Given the description of an element on the screen output the (x, y) to click on. 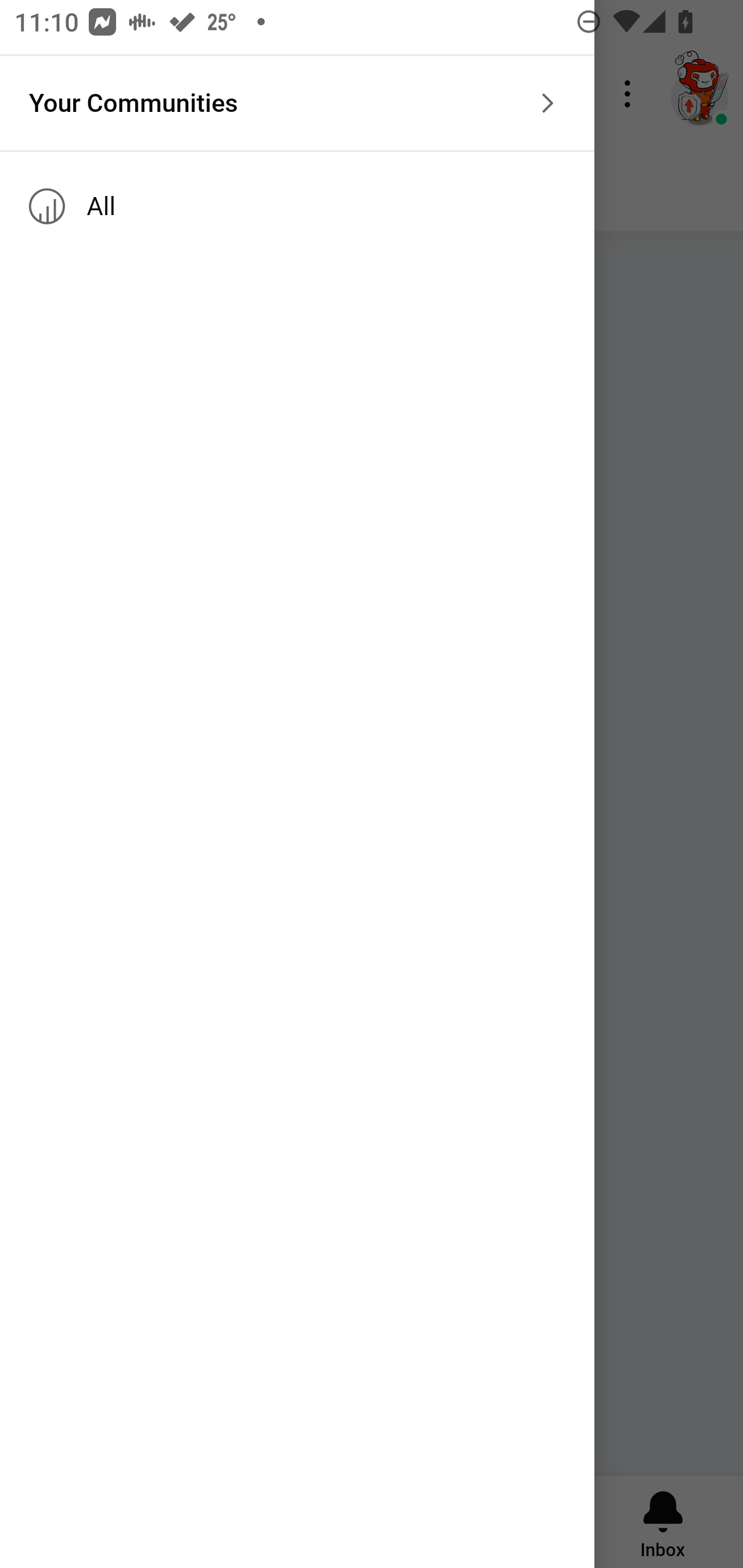
Your Communities (297, 103)
All (297, 206)
